Given the description of an element on the screen output the (x, y) to click on. 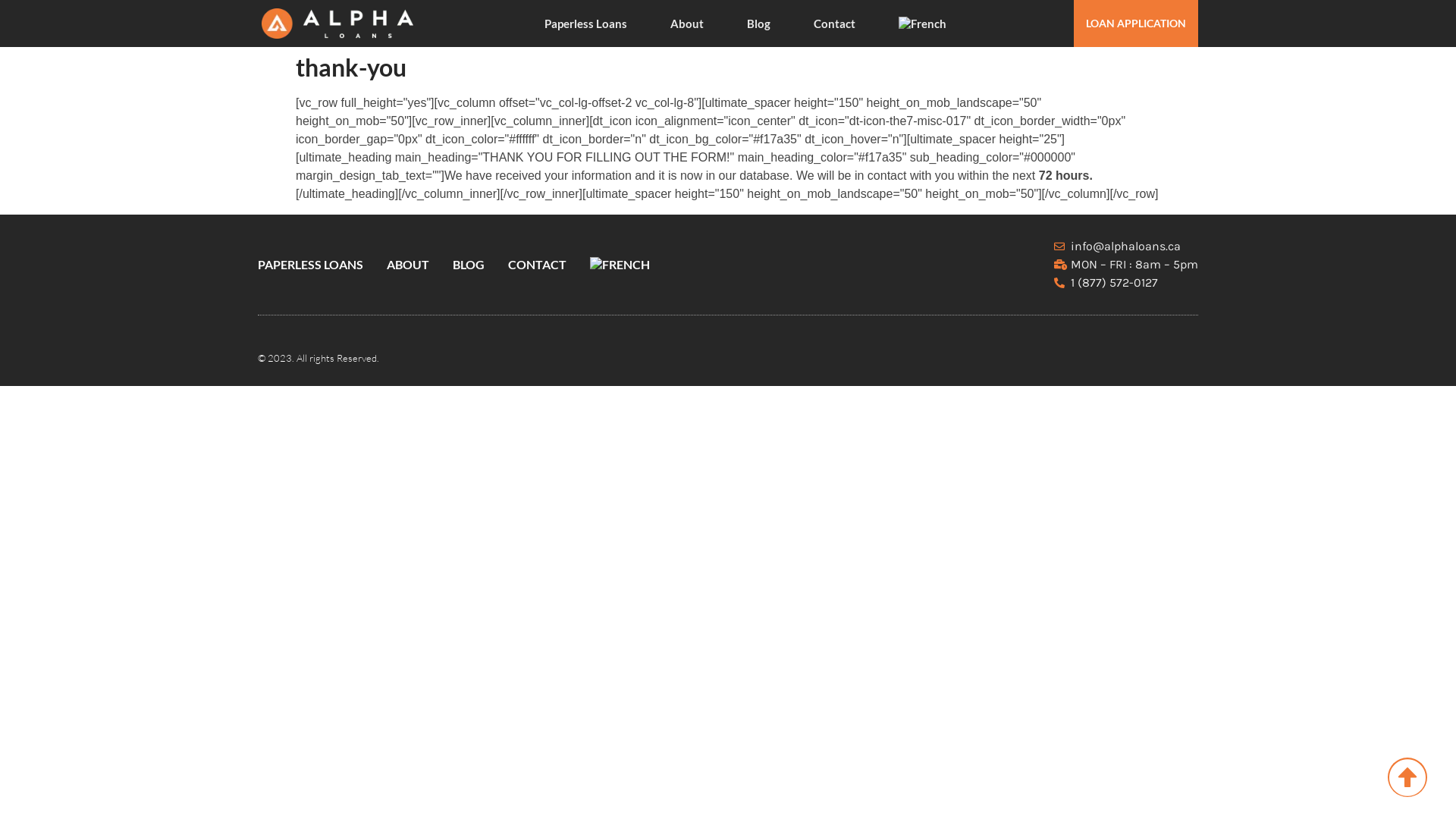
Contact Element type: text (834, 23)
LOAN APPLICATION Element type: text (1135, 23)
Paperless Loans Element type: text (585, 23)
About Element type: text (686, 23)
BLOG Element type: text (468, 264)
1 (877) 572-0127 Element type: text (1126, 282)
CONTACT Element type: text (537, 264)
ABOUT Element type: text (407, 264)
PAPERLESS LOANS Element type: text (310, 264)
Blog Element type: text (758, 23)
